Given the description of an element on the screen output the (x, y) to click on. 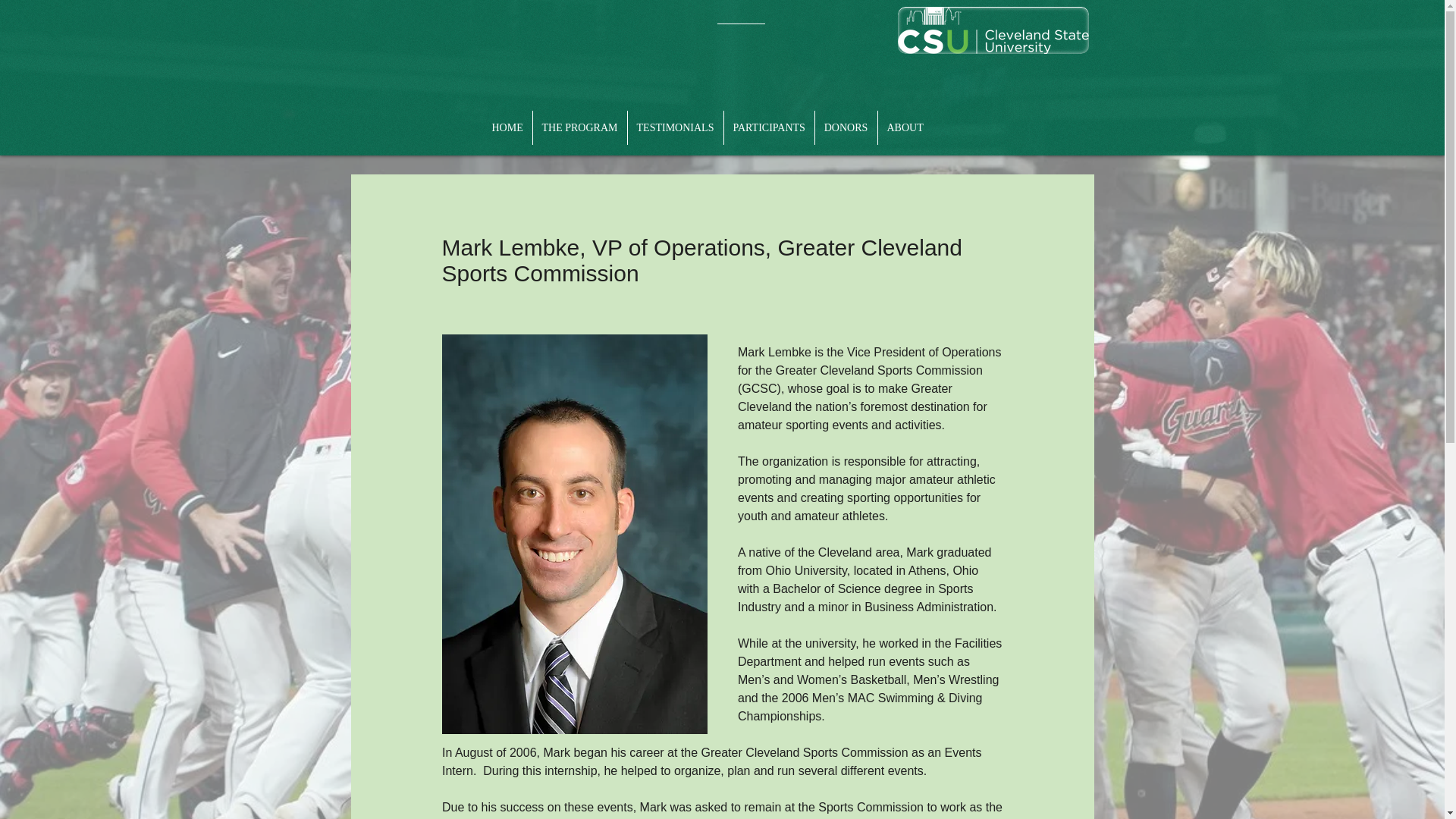
ABOUT (905, 127)
TESTIMONIALS (675, 127)
DONORS (844, 127)
THE PROGRAM (579, 127)
PARTICIPANTS (768, 127)
HOME (506, 127)
